Given the description of an element on the screen output the (x, y) to click on. 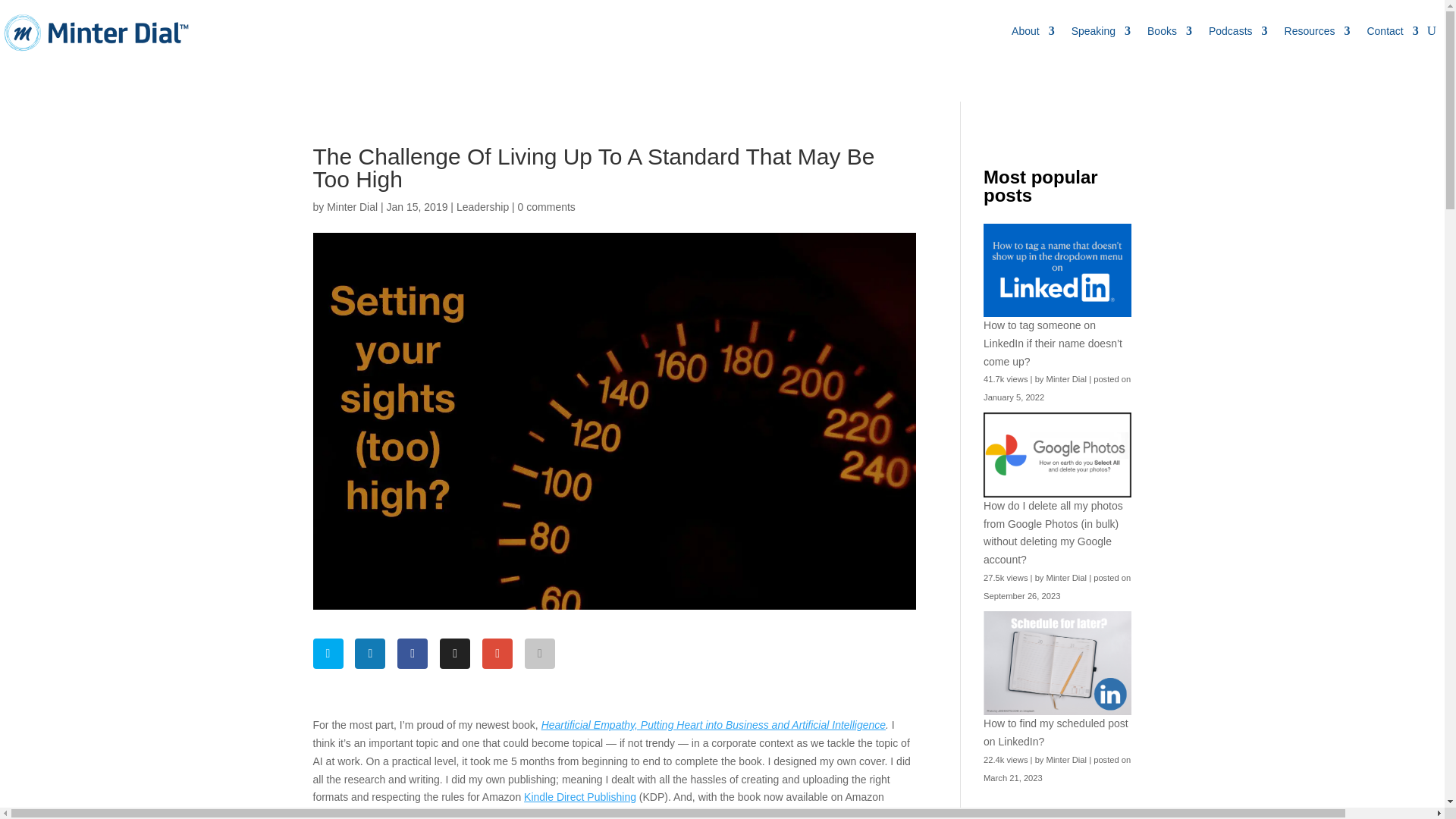
Speaking (1101, 30)
Resources (1317, 30)
Podcasts (1238, 30)
Posts by Minter Dial (351, 206)
Contact (1392, 30)
